Given the description of an element on the screen output the (x, y) to click on. 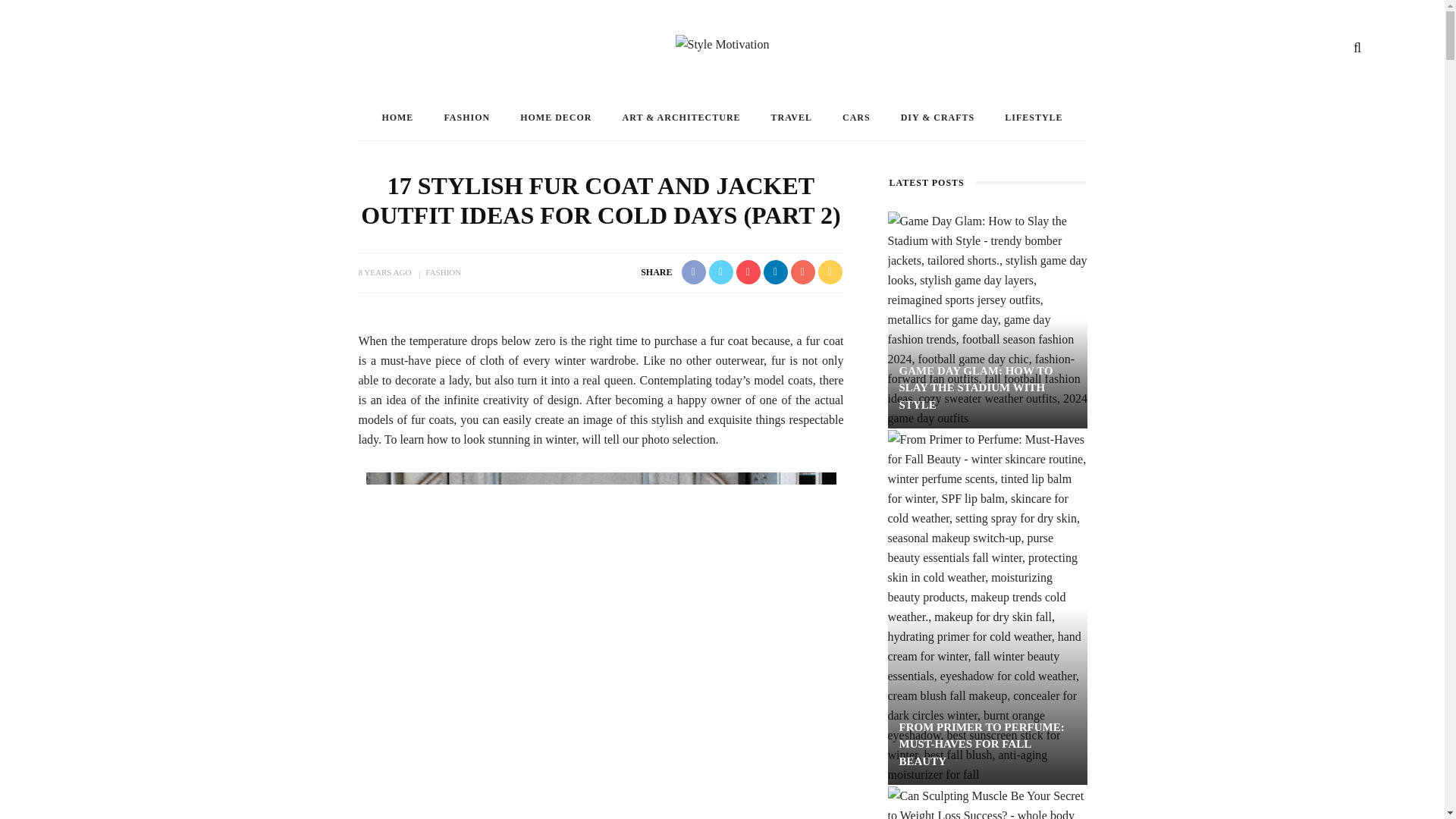
TRAVEL (791, 117)
HOME DECOR (556, 117)
CARS (856, 117)
HOME (397, 117)
FASHION (466, 117)
LIFESTYLE (1033, 117)
FASHION (443, 271)
